Given the description of an element on the screen output the (x, y) to click on. 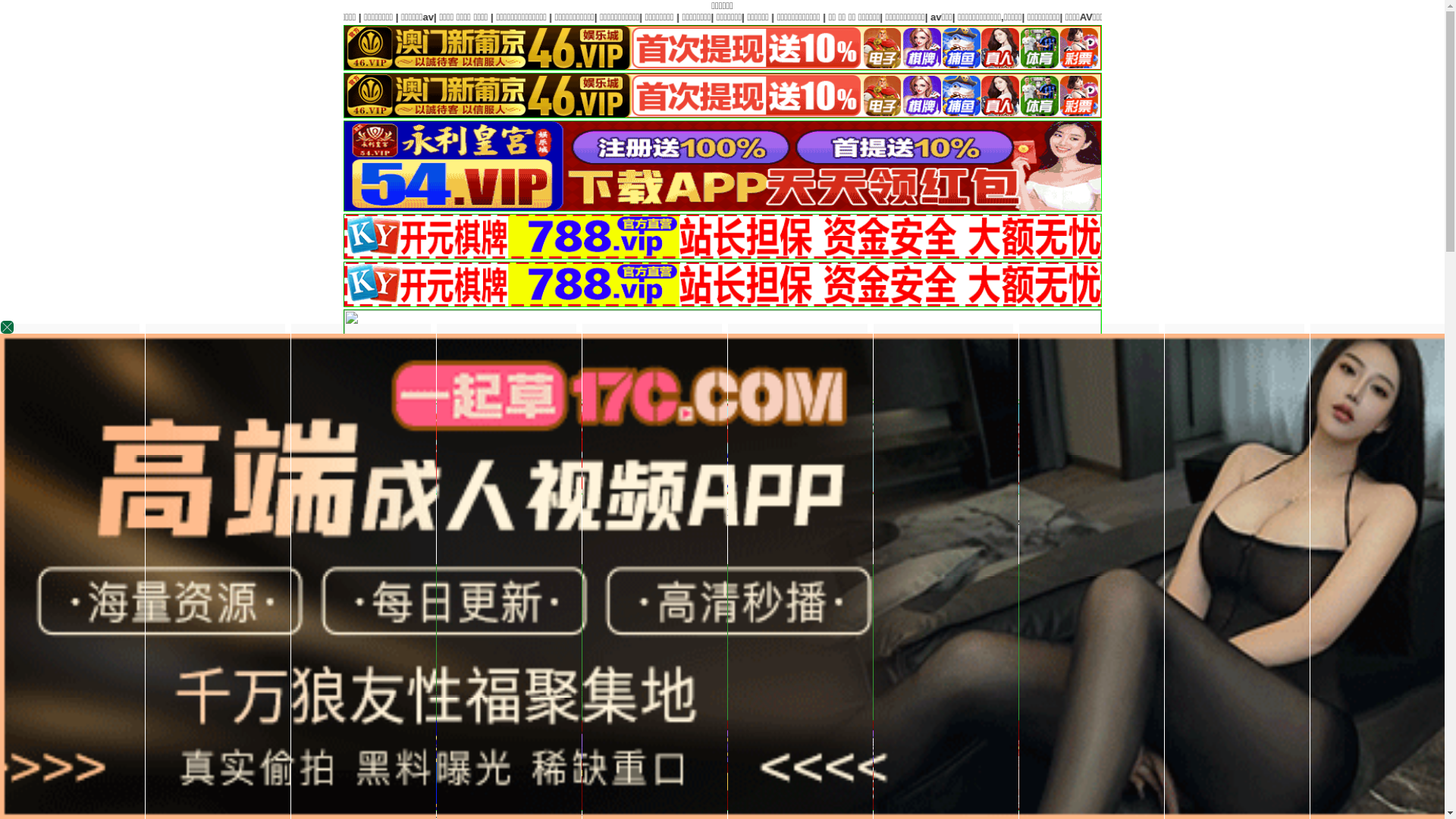
www.swszl.com Element type: text (705, 523)
| Element type: text (905, 16)
| Element type: text (1192, 16)
| Element type: text (1054, 16)
| Element type: text (754, 16)
| Element type: text (647, 693)
| Element type: text (1086, 693)
| Element type: text (760, 693)
| Element type: text (1249, 16)
| Element type: text (819, 16)
| Element type: text (993, 693)
| Element type: text (948, 693)
| Element type: text (838, 693)
www.gxht168.com Element type: text (796, 523)
| Element type: text (1142, 16)
| Element type: text (1099, 16)
| Element type: text (945, 16)
| Element type: text (1432, 16)
| Element type: text (866, 16)
| Element type: text (1375, 16)
| Element type: text (779, 16)
| Element type: text (1008, 16)
| Element type: text (799, 693)
| Element type: text (1284, 16)
| Element type: text (1036, 693)
www.i0534.com Element type: text (620, 523)
| Element type: text (901, 693)
www.hehui888.com Element type: text (894, 523)
| Element type: text (713, 693)
| Element type: text (1321, 16)
| Element type: text (672, 693)
